Given the description of an element on the screen output the (x, y) to click on. 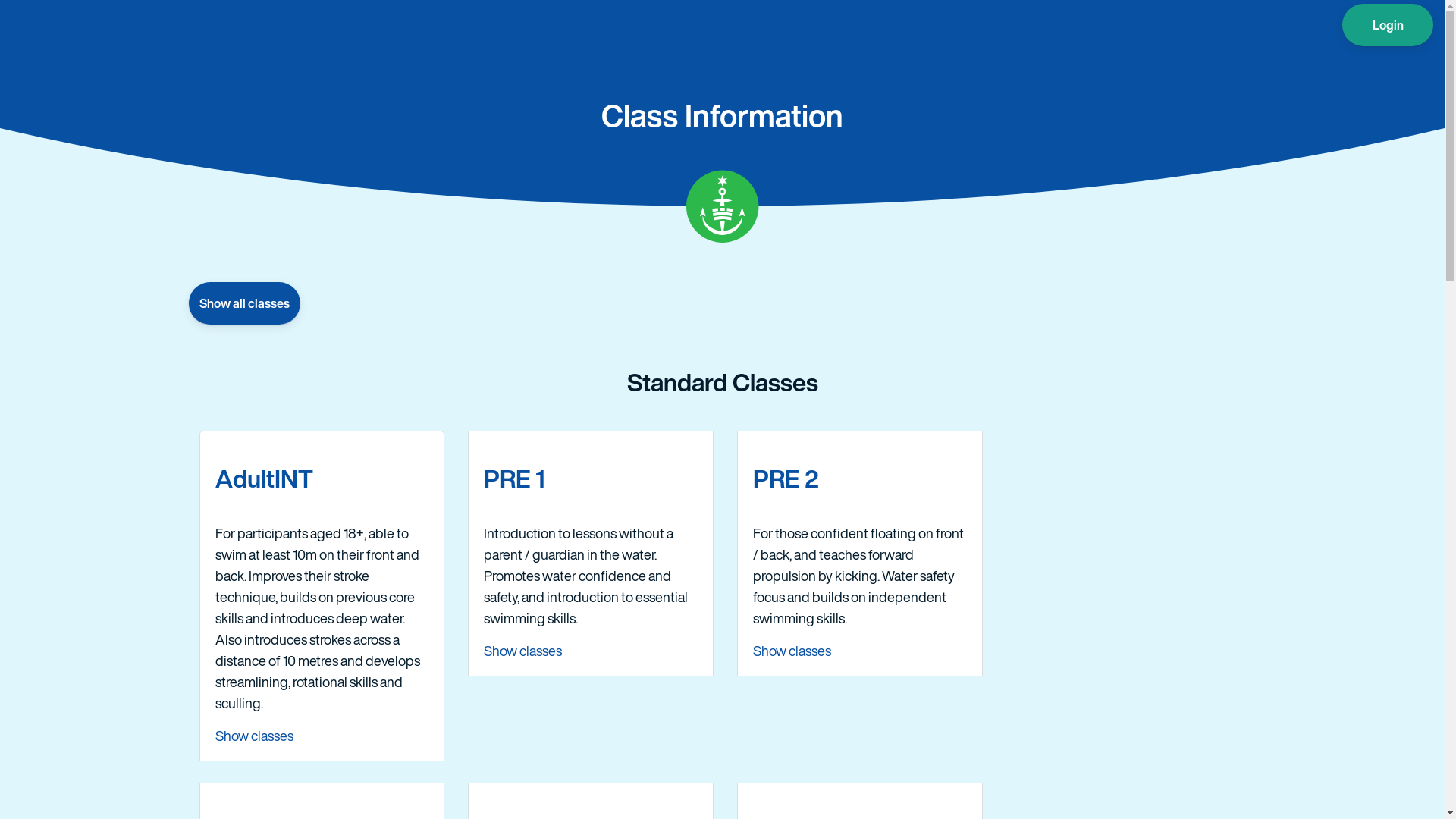
Show classes Element type: text (522, 650)
Login Element type: text (1387, 24)
Show classes Element type: text (792, 650)
Show all classes Element type: text (243, 303)
Show classes Element type: text (254, 735)
